Given the description of an element on the screen output the (x, y) to click on. 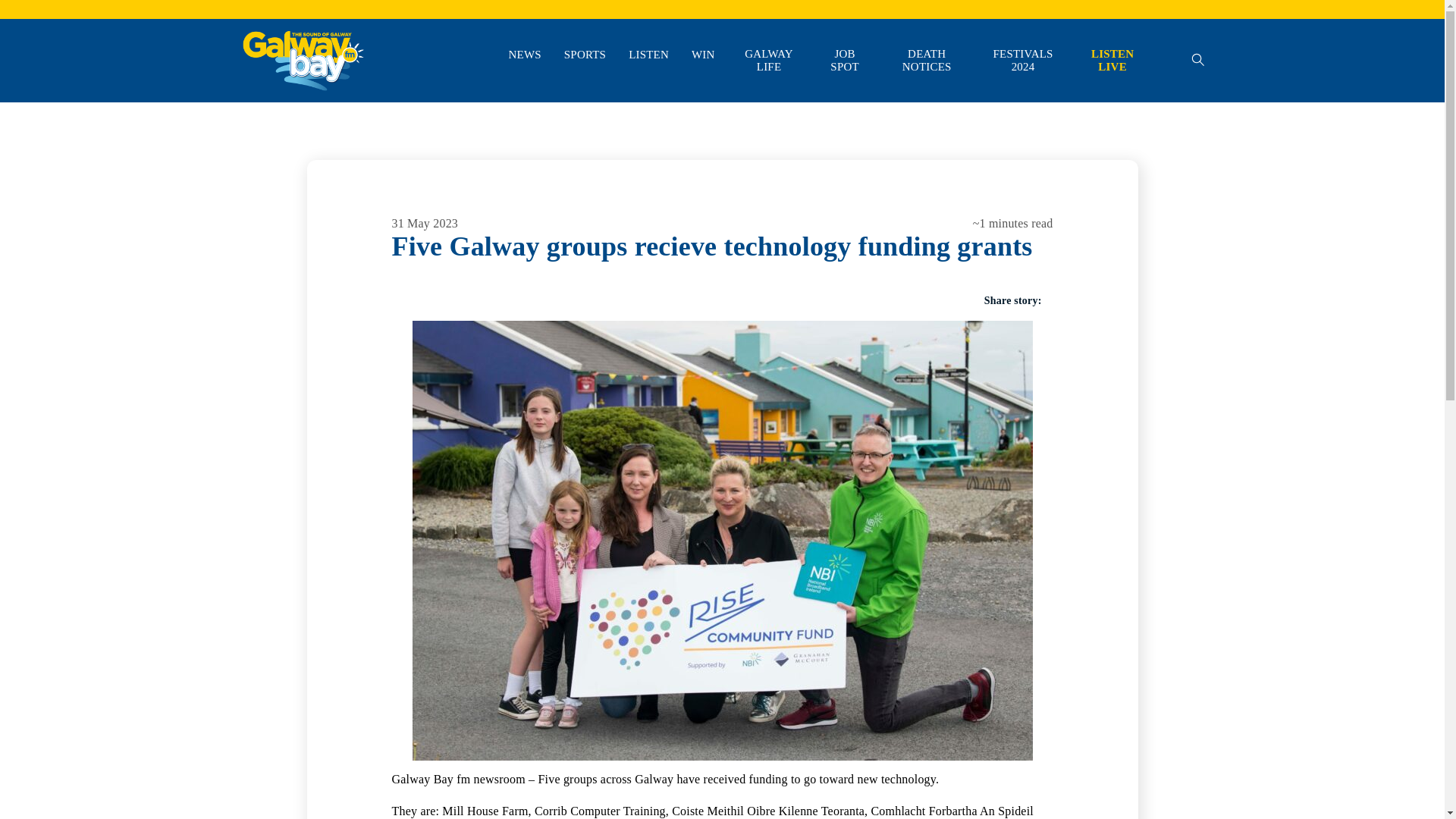
DEATH NOTICES (926, 60)
JOB SPOT (844, 60)
LISTEN (648, 54)
Galway Bay FM (279, 112)
NEWS (524, 54)
WIN (702, 54)
GALWAY LIFE (769, 60)
FESTIVALS 2024 (1023, 60)
SPORTS (584, 54)
LISTEN LIVE (1111, 60)
